Given the description of an element on the screen output the (x, y) to click on. 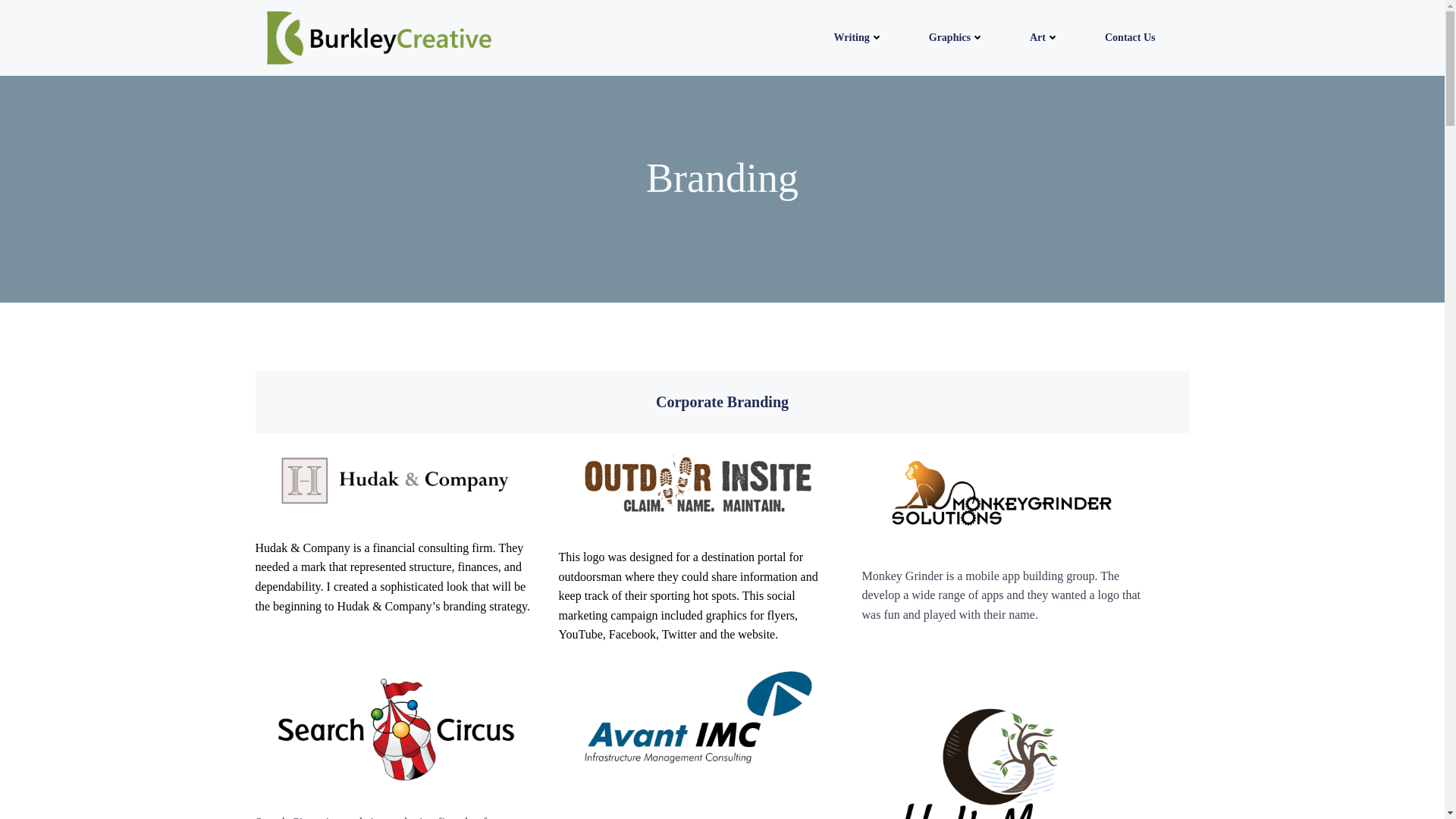
Contact Us (1130, 37)
Graphics (956, 37)
Art (1044, 37)
Writing (858, 37)
